Given the description of an element on the screen output the (x, y) to click on. 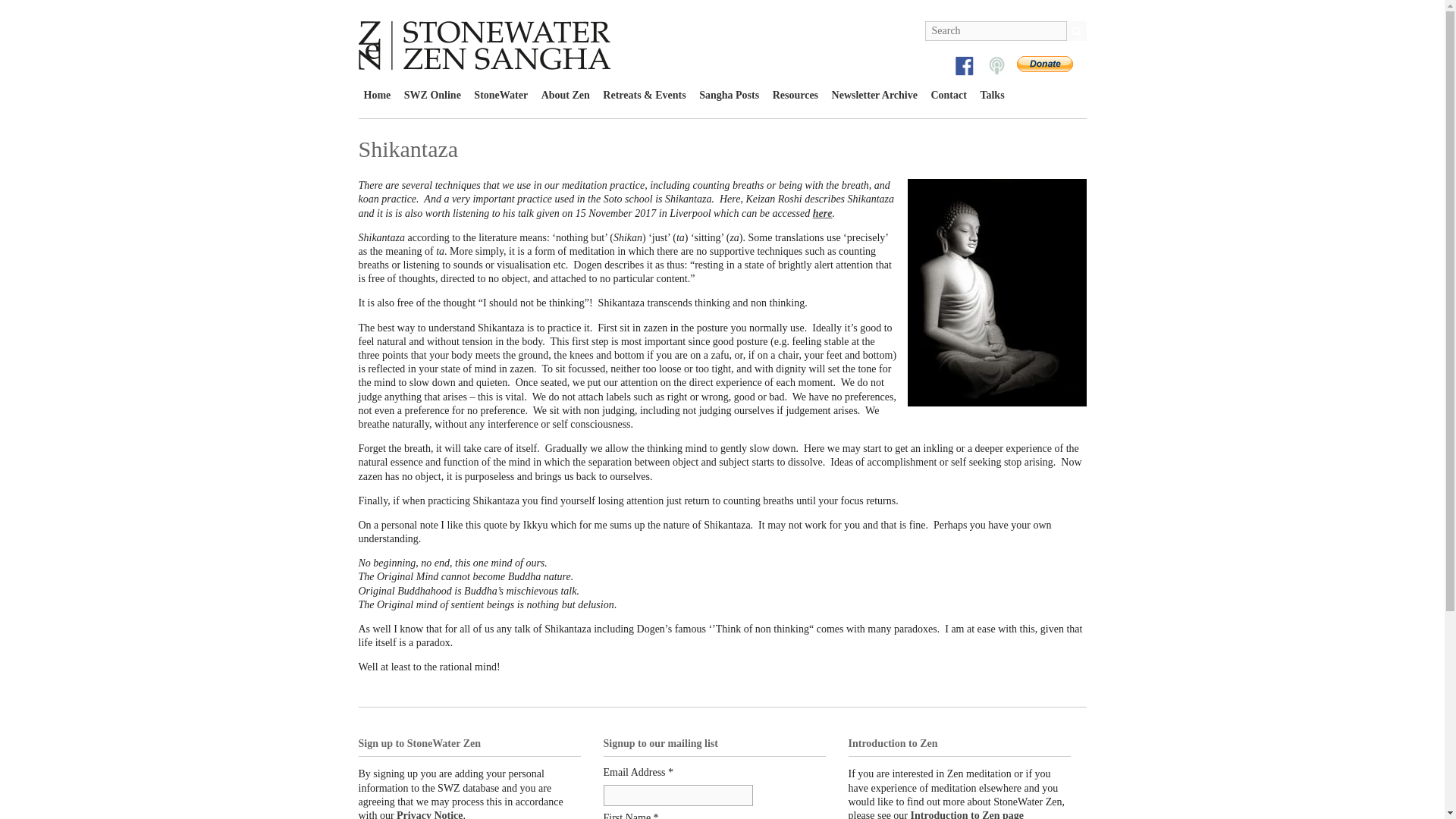
Facebook (964, 66)
Sangha Posts (729, 95)
StoneWater (500, 95)
Home (377, 95)
Search for: (995, 30)
PayPal - The safer, easier way to pay online! (1043, 64)
About Zen (565, 95)
Talks (995, 66)
SWZ Online (431, 95)
Resources (795, 95)
